Given the description of an element on the screen output the (x, y) to click on. 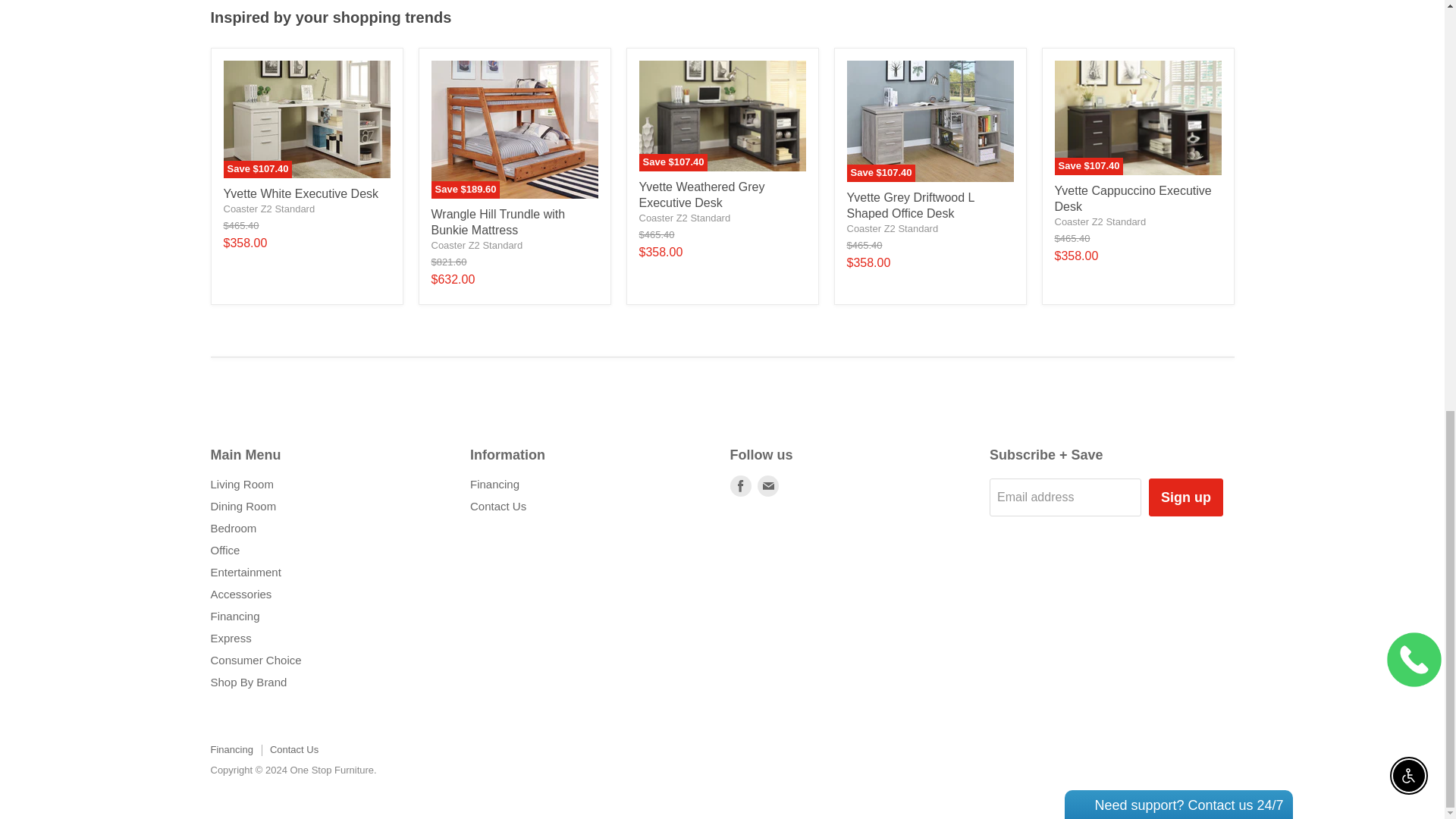
Coaster Z2 Standard (1099, 221)
Coaster Z2 Standard (684, 217)
E-mail (767, 485)
Coaster Z2 Standard (268, 208)
Coaster Z2 Standard (891, 228)
Click to minimize (1187, 26)
Click to popout into a new window (1205, 26)
Facebook (740, 485)
Coaster Z2 Standard (476, 244)
